Given the description of an element on the screen output the (x, y) to click on. 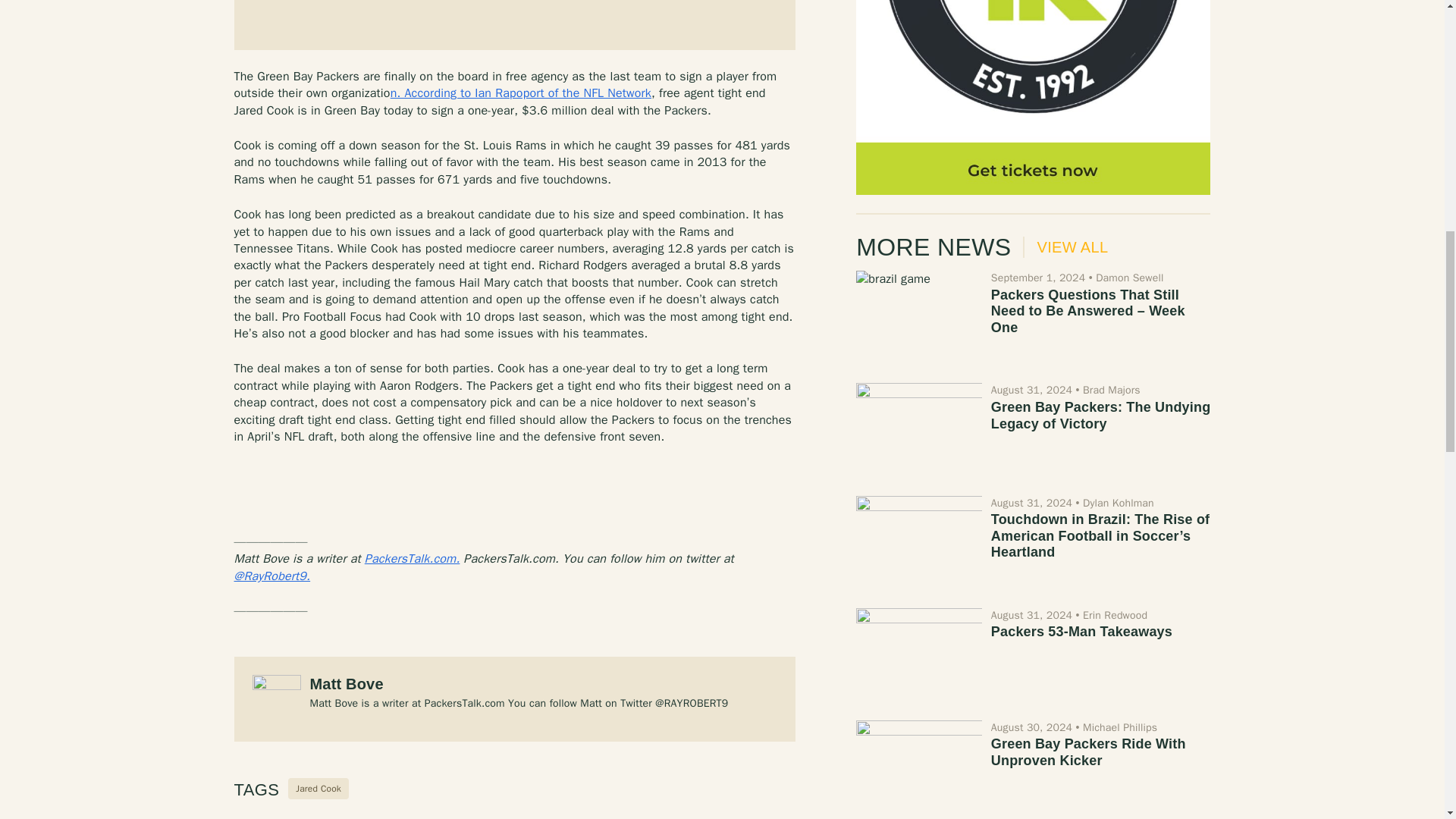
Jared Cook (318, 789)
Green Bay Packers: The Undying Legacy of Victory (918, 429)
VIEW ALL (1065, 246)
Green Bay Packers: The Undying Legacy of Victory (1101, 415)
Packers 53-Man Takeaways (1081, 631)
PackersTalk.com (412, 558)
Damon Sewell (1129, 277)
Matt (271, 575)
Green Bay Packers: The Undying Legacy of Victory (1101, 415)
Green Bay Packers Ride With Unproven Kicker (1088, 752)
